Given the description of an element on the screen output the (x, y) to click on. 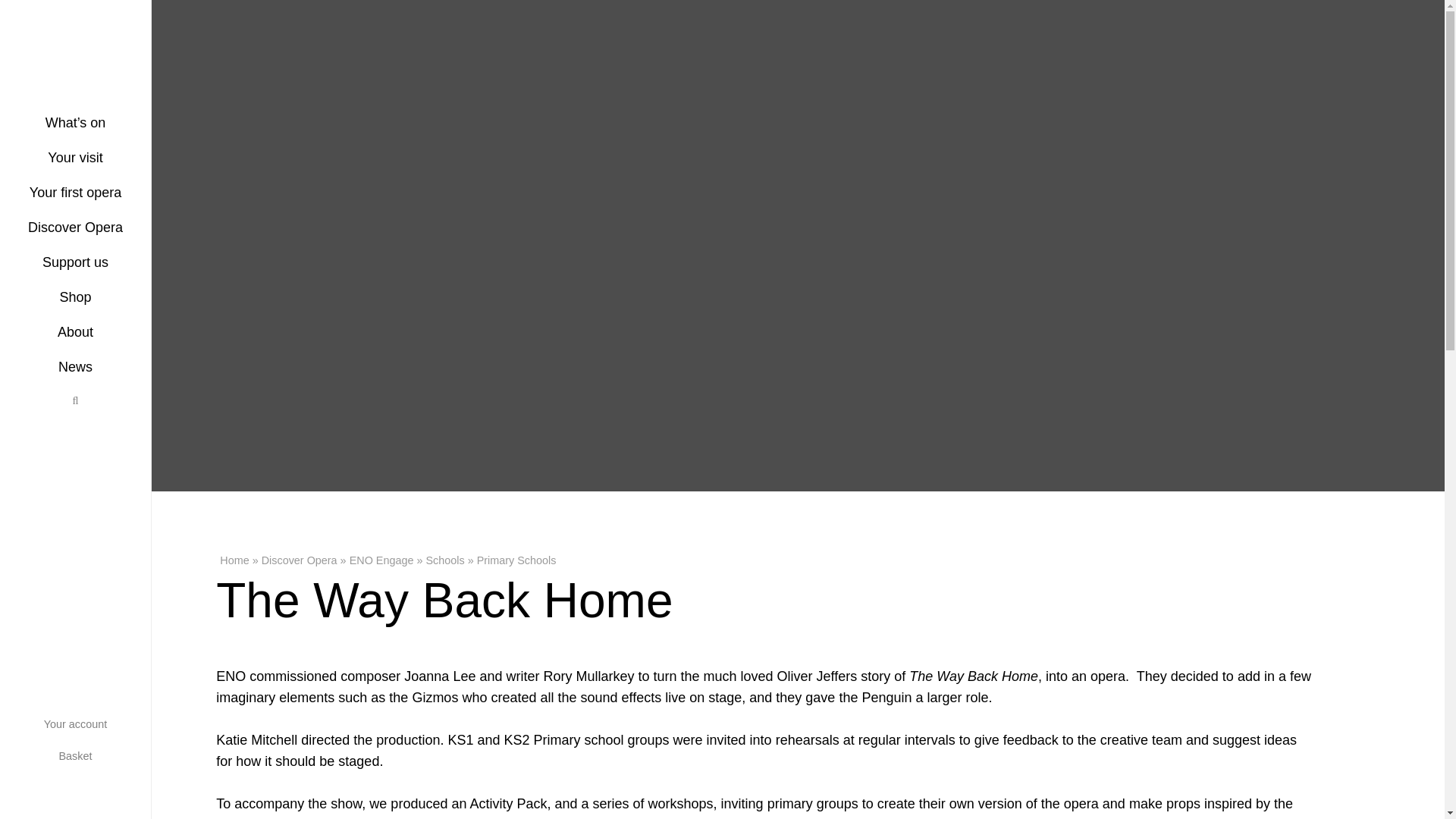
Search (75, 399)
The Turn of the Screw (16, 505)
Book now (17, 580)
Find out more (17, 142)
Support us (75, 261)
Book now (17, 740)
Your visit (75, 156)
Find out more (17, 783)
Book now (17, 260)
Find out more (17, 462)
